Given the description of an element on the screen output the (x, y) to click on. 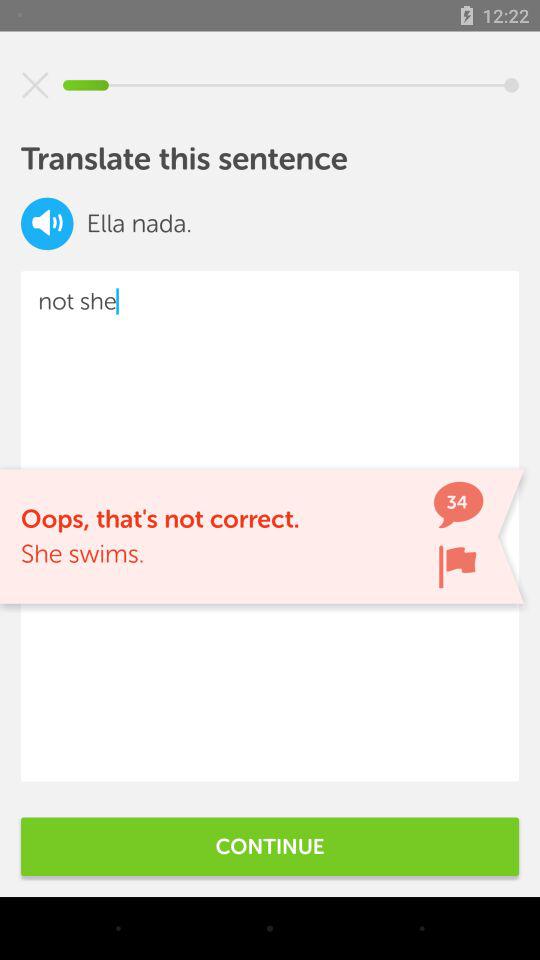
select the item above the translate this sentence item (35, 85)
